Given the description of an element on the screen output the (x, y) to click on. 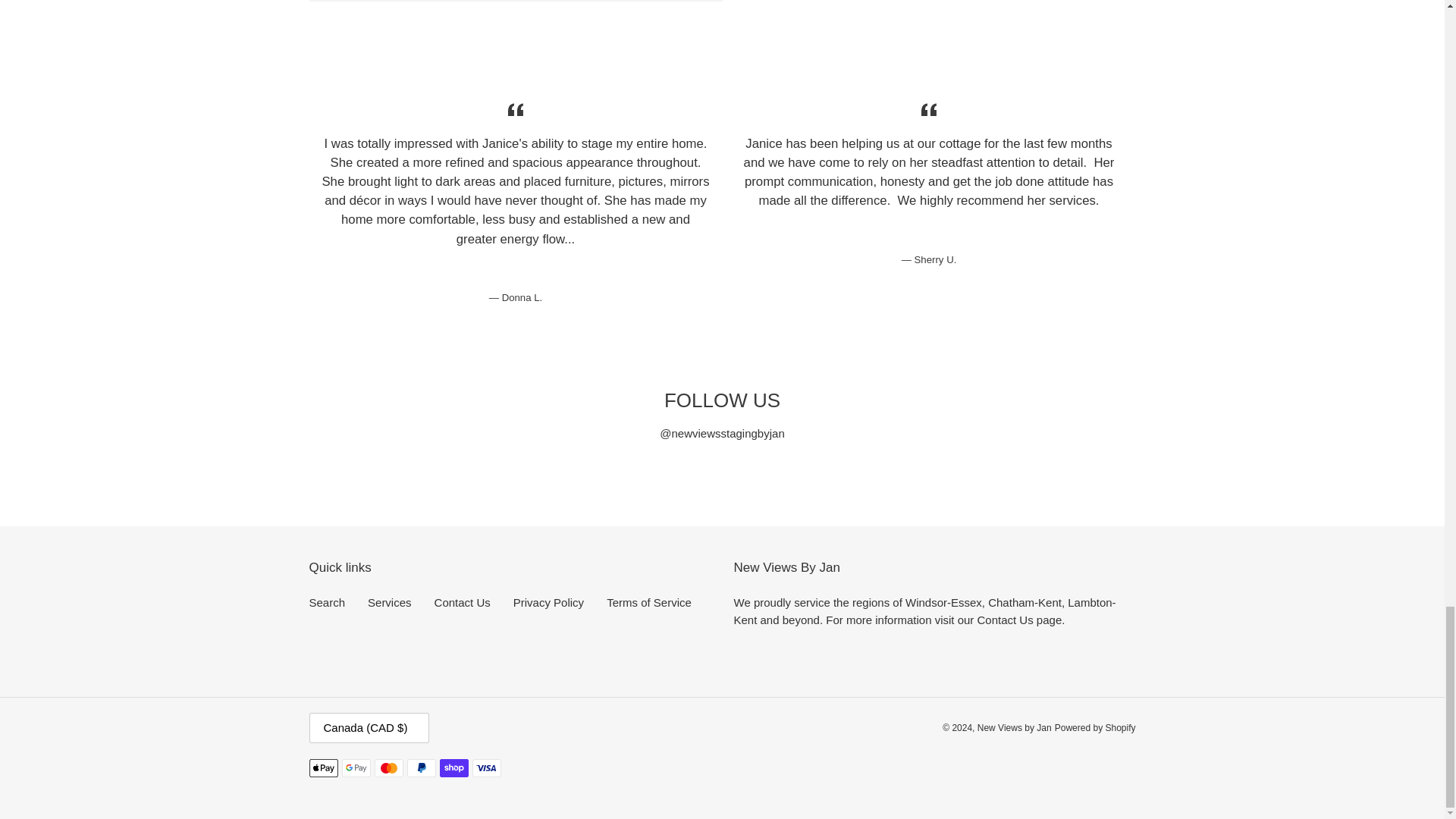
Terms of Service (649, 602)
Privacy Policy (548, 602)
Services (390, 602)
Search (327, 602)
Contact Us (461, 602)
